Given the description of an element on the screen output the (x, y) to click on. 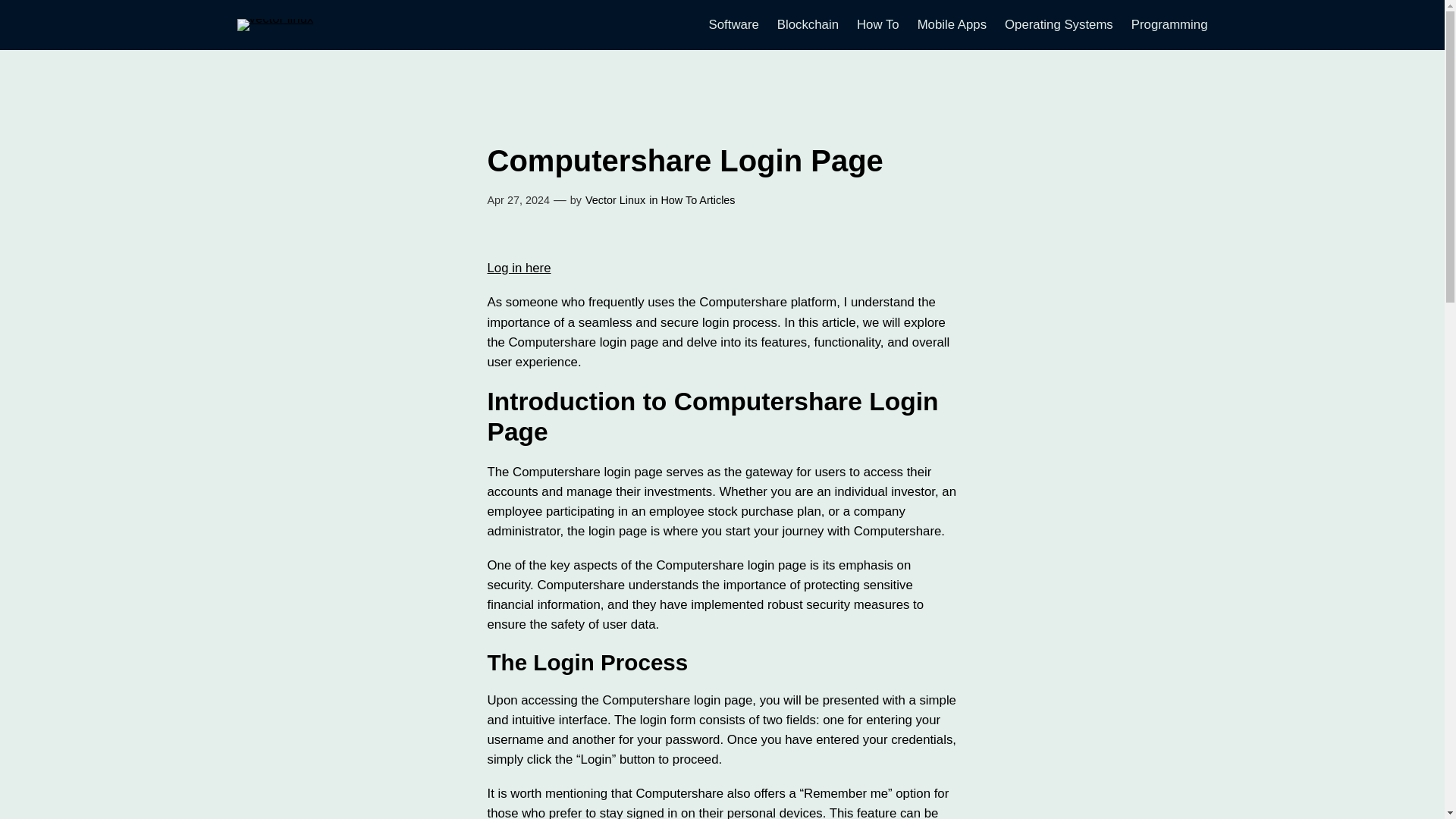
How To (878, 25)
How To Articles (698, 200)
Mobile Apps (952, 25)
Blockchain (807, 25)
Vector Linux (615, 200)
Software (733, 25)
Apr 27, 2024 (517, 200)
Programming (1169, 25)
Log in here (518, 268)
Operating Systems (1058, 25)
